Given the description of an element on the screen output the (x, y) to click on. 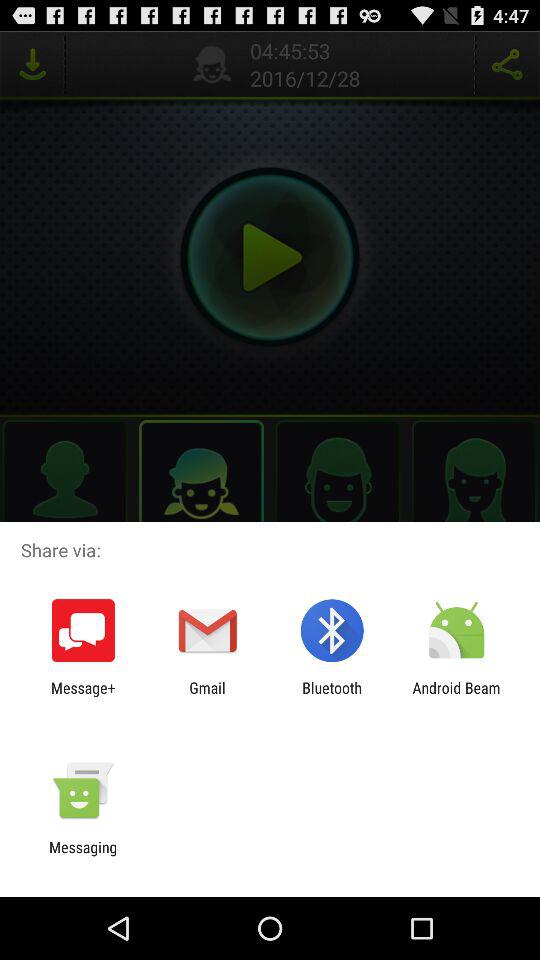
turn on gmail icon (207, 696)
